Given the description of an element on the screen output the (x, y) to click on. 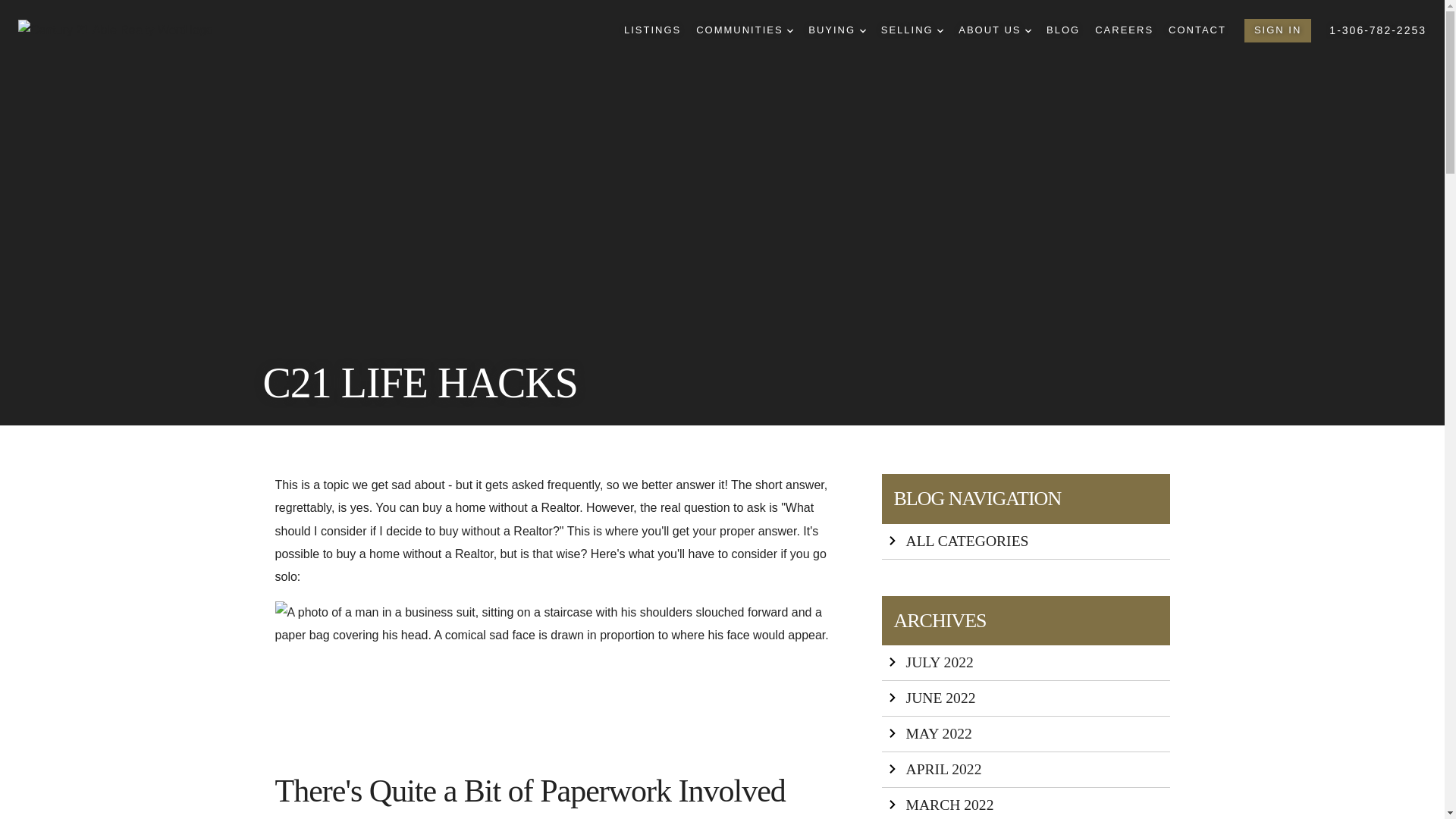
LISTINGS (652, 30)
BLOG (1063, 30)
CAREERS (1123, 30)
ABOUT US DROPDOWN ARROW (994, 30)
DROPDOWN ARROW (790, 30)
DROPDOWN ARROW (940, 30)
SELLING DROPDOWN ARROW (911, 30)
CONTACT (1197, 30)
BUYING DROPDOWN ARROW (836, 30)
DROPDOWN ARROW (863, 30)
